Given the description of an element on the screen output the (x, y) to click on. 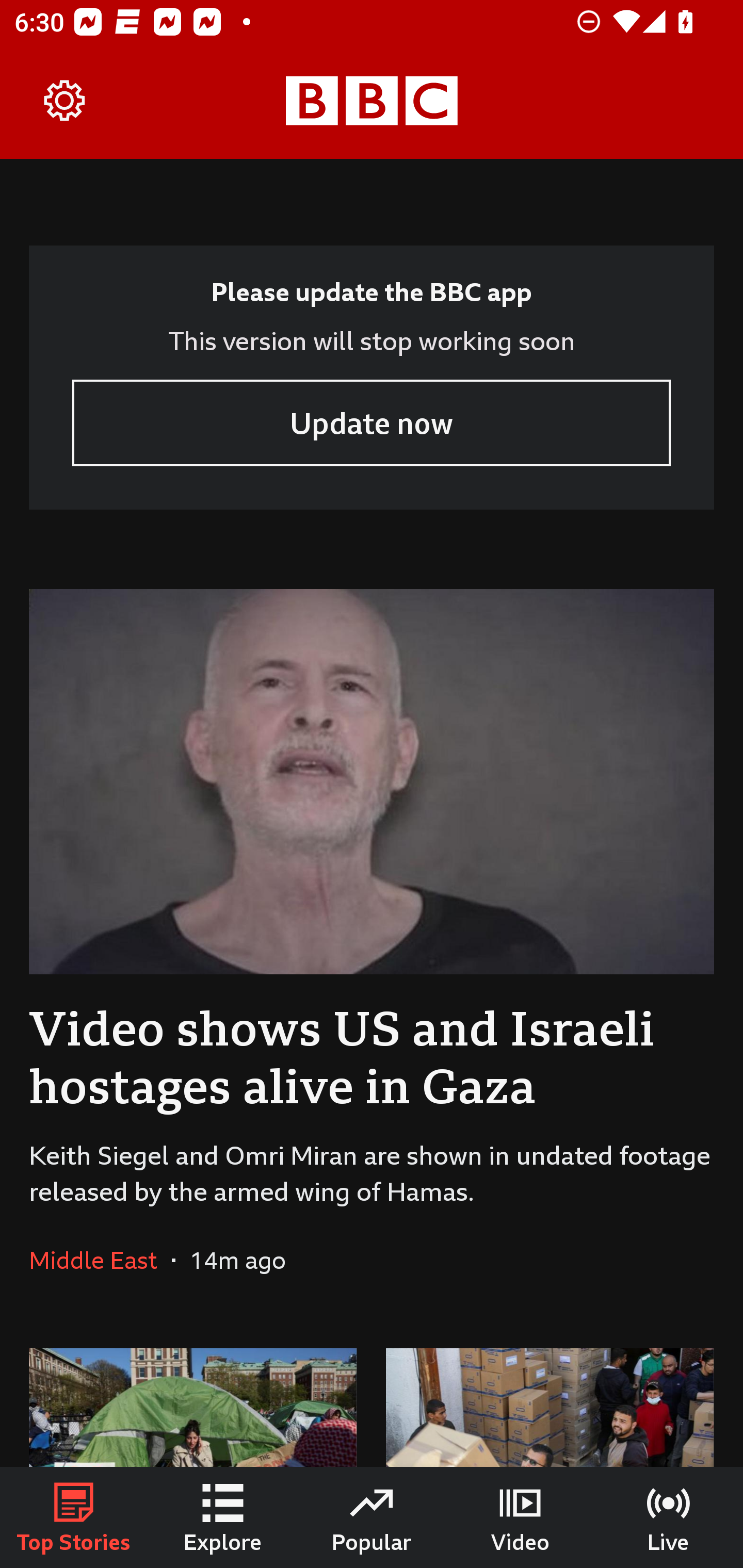
Settings (64, 100)
Update now (371, 422)
Middle East In the section Middle East (99, 1259)
Explore (222, 1517)
Popular (371, 1517)
Video (519, 1517)
Live (668, 1517)
